Given the description of an element on the screen output the (x, y) to click on. 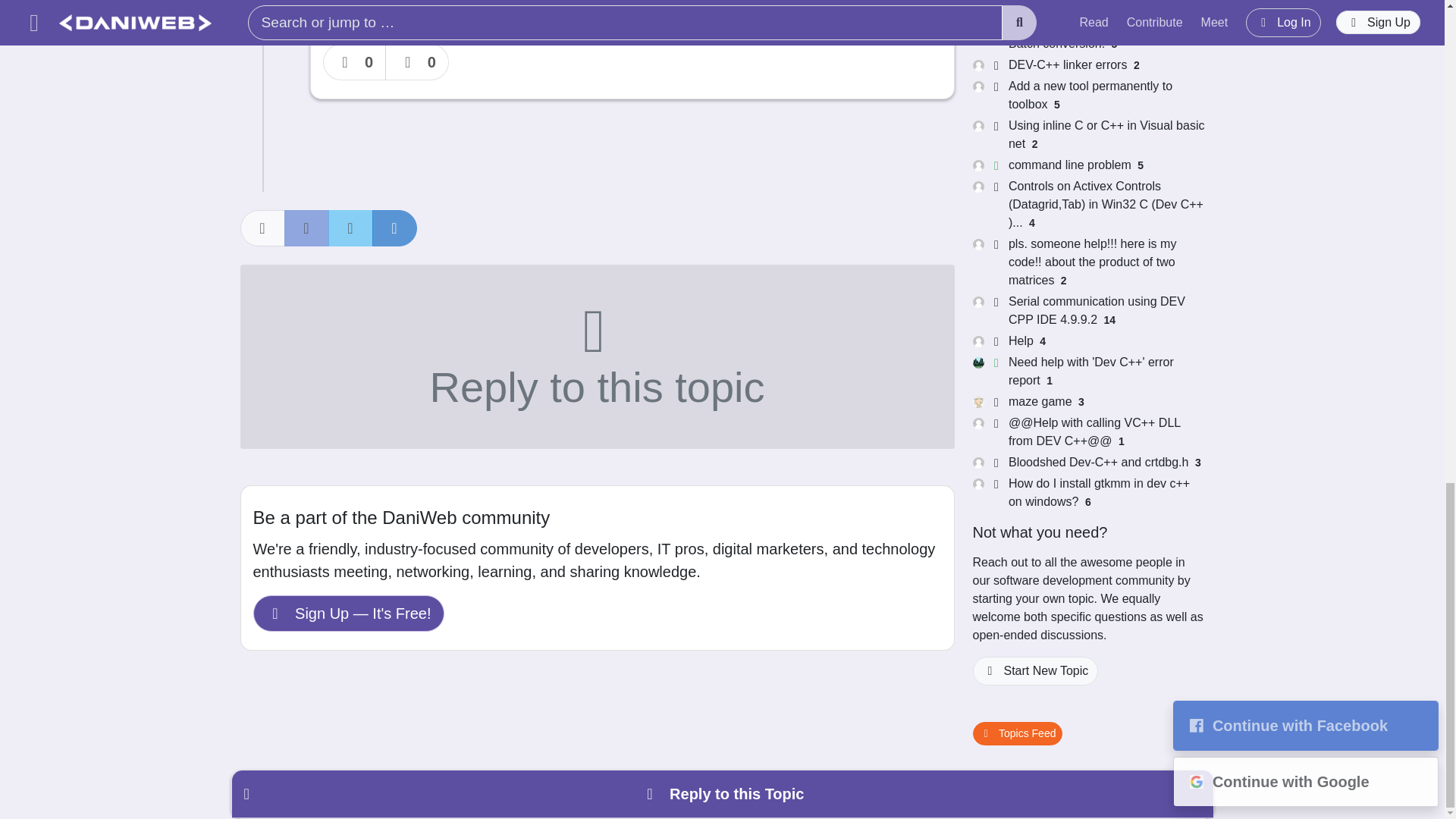
LinkedIn (393, 227)
Twitter (349, 227)
0 (416, 62)
Reply to this topic (596, 356)
Facebook (306, 227)
Share (261, 227)
0 (355, 62)
